Given the description of an element on the screen output the (x, y) to click on. 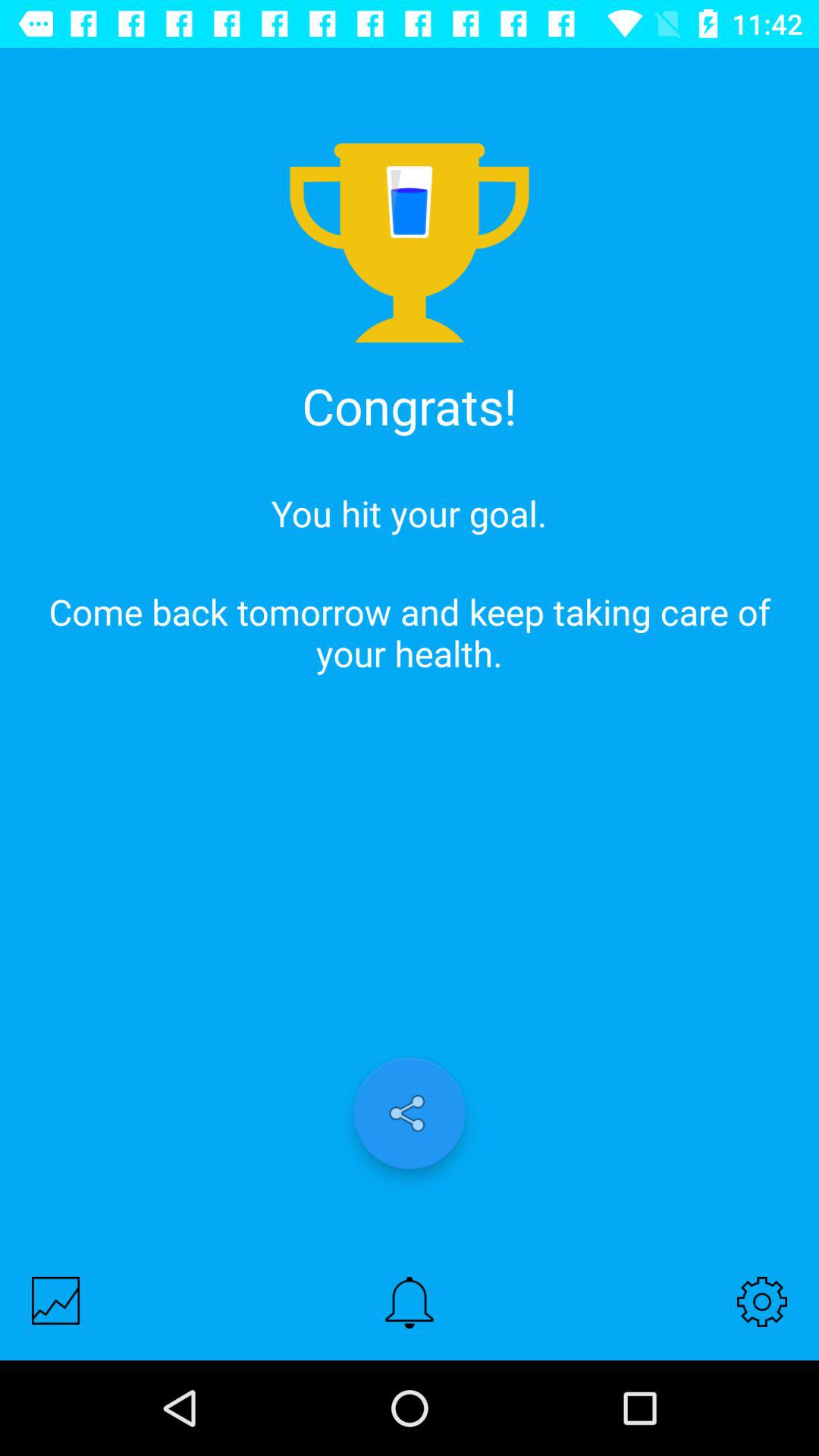
show history (55, 1300)
